Given the description of an element on the screen output the (x, y) to click on. 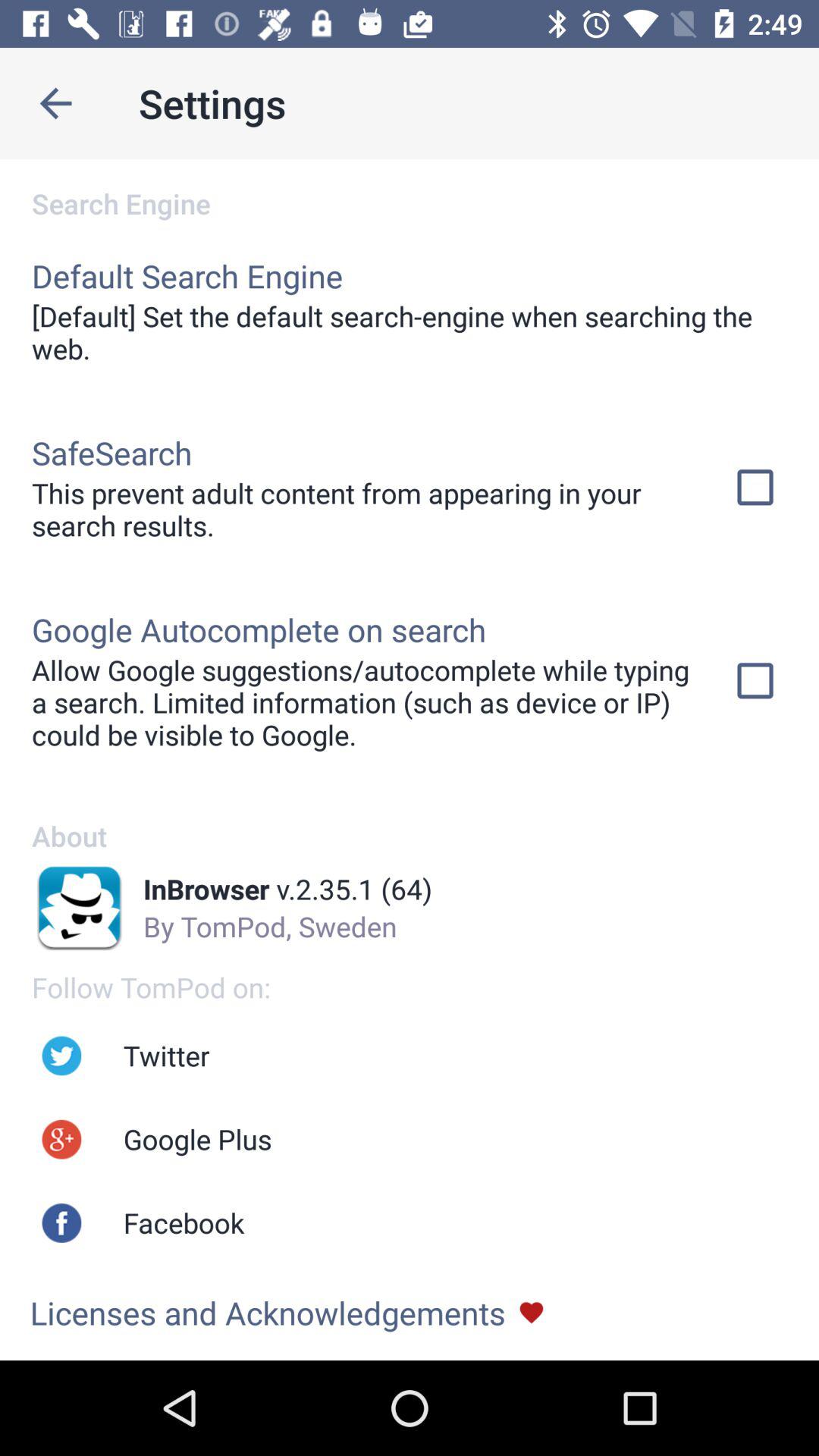
tap the item next to the   settings app (55, 103)
